Given the description of an element on the screen output the (x, y) to click on. 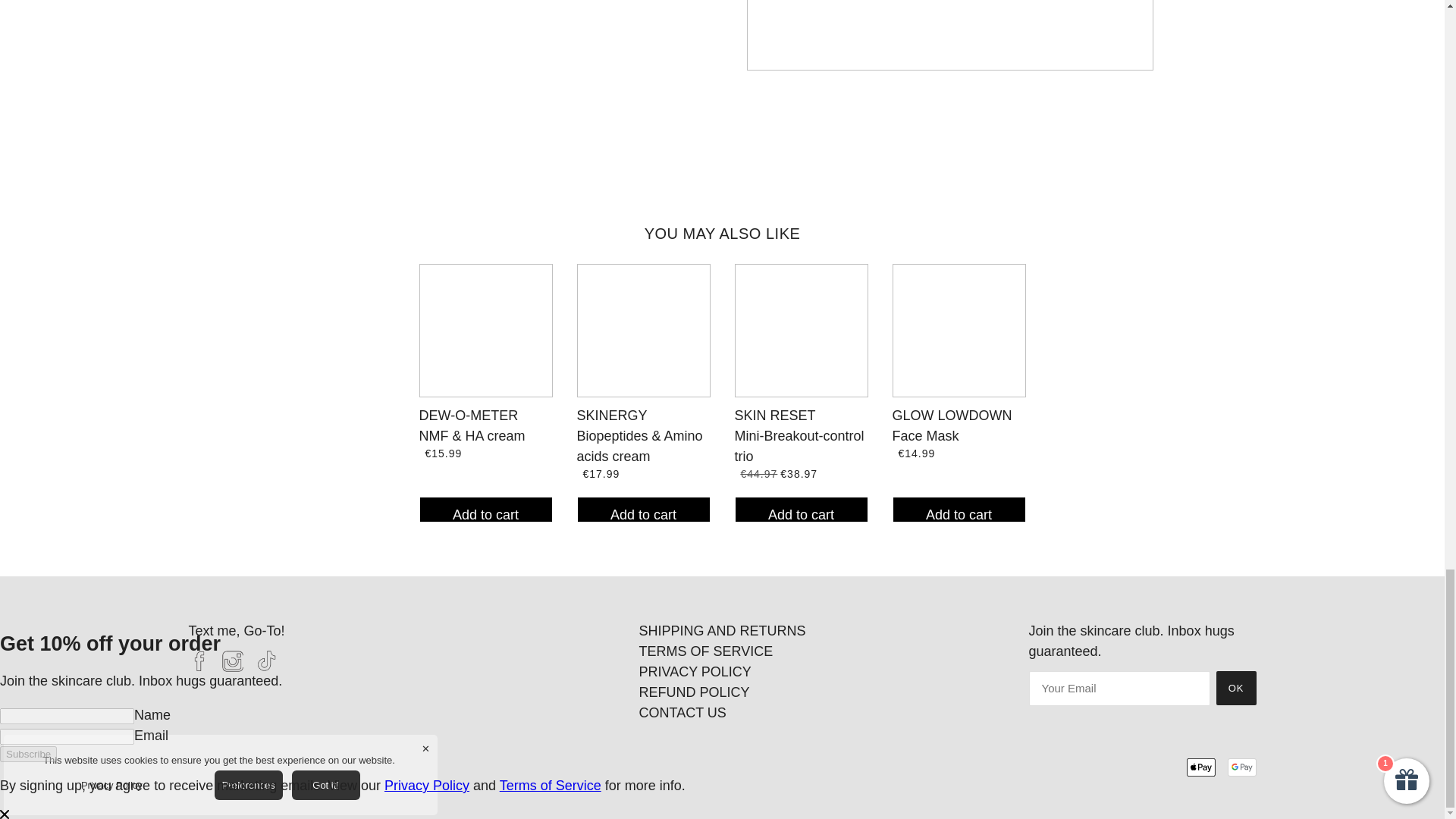
SHIPPING AND RETURNS (722, 630)
CONTACT US (682, 712)
TERMS OF SERVICE (706, 651)
PRIVACY POLICY (695, 671)
Apple Pay (1200, 767)
REFUND POLICY (694, 692)
Google Pay (1241, 767)
